Given the description of an element on the screen output the (x, y) to click on. 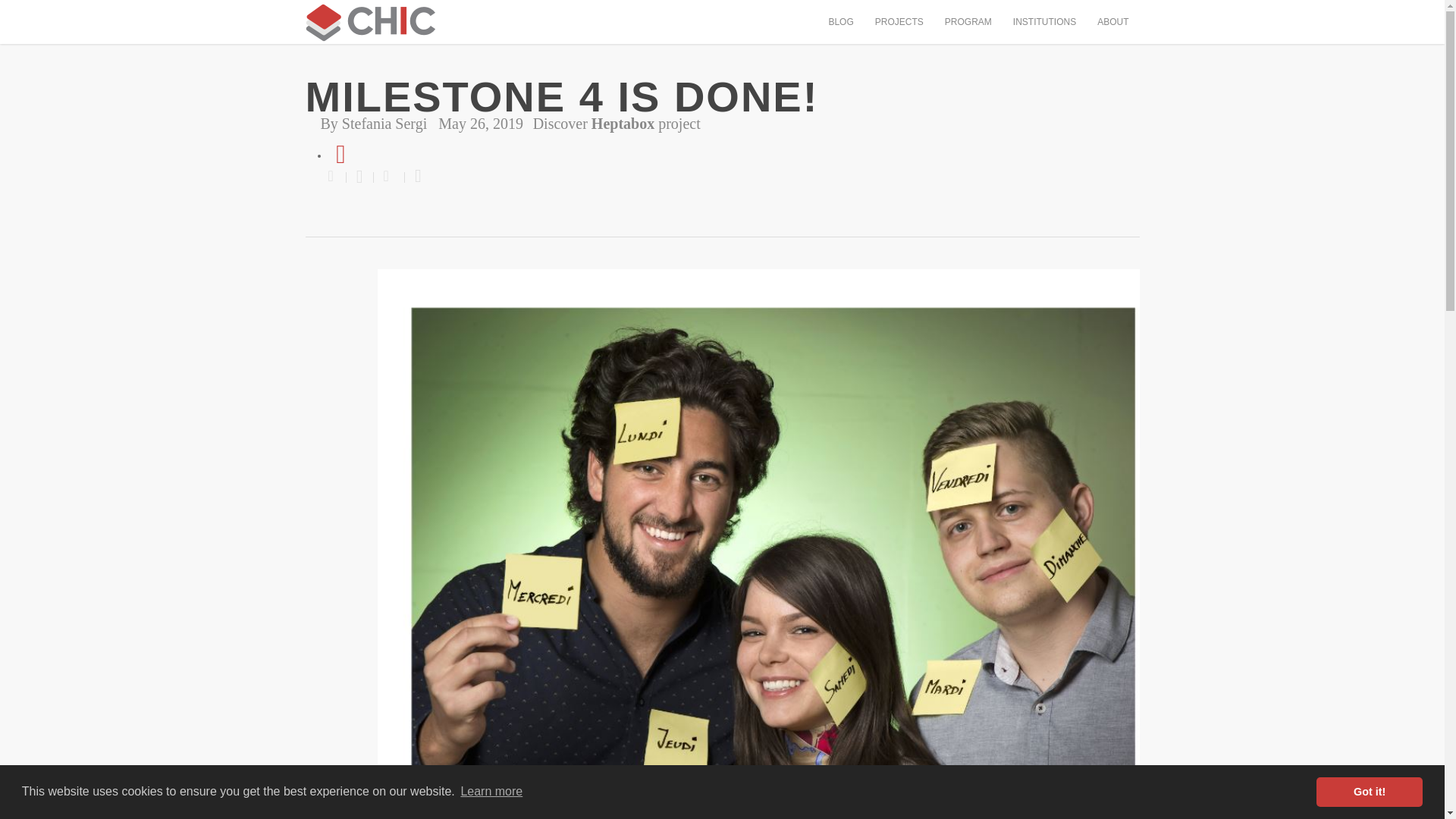
PROGRAM (967, 24)
Share this (336, 176)
Got it! (1369, 791)
Tweet this (360, 176)
Share this (389, 176)
Pin this (414, 176)
INSTITUTIONS (1044, 24)
PROJECTS (898, 24)
BLOG (840, 24)
ABOUT (1112, 24)
Heptabox (622, 123)
Learn more (491, 791)
